Given the description of an element on the screen output the (x, y) to click on. 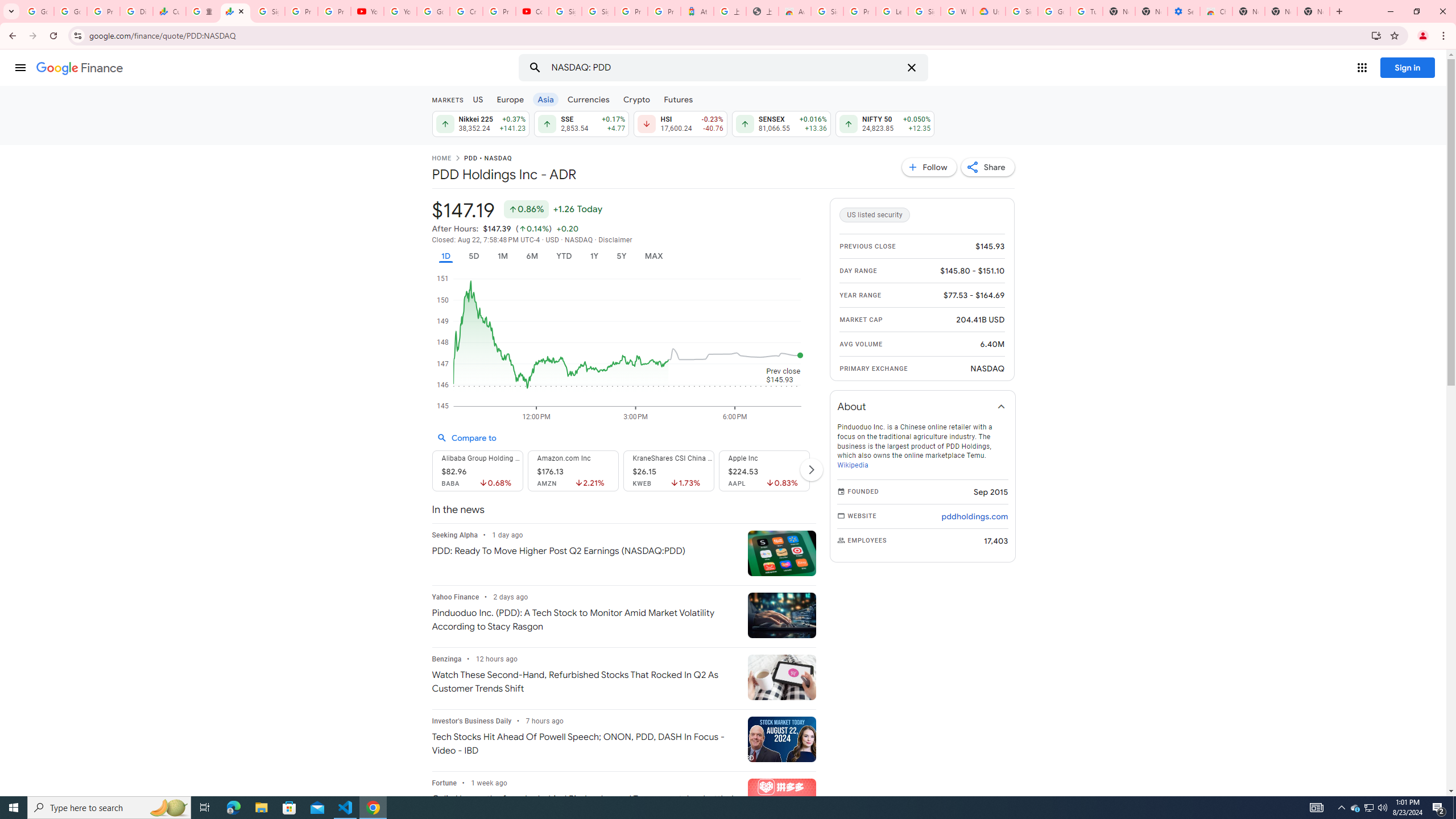
Clear search (911, 67)
Disclaimer (614, 239)
HOME (440, 158)
Sign in - Google Accounts (268, 11)
Sign in - Google Accounts (564, 11)
Turn cookies on or off - Computer - Google Account Help (1086, 11)
6M (531, 255)
Sign in - Google Accounts (598, 11)
1Y (594, 255)
5D (473, 255)
